Given the description of an element on the screen output the (x, y) to click on. 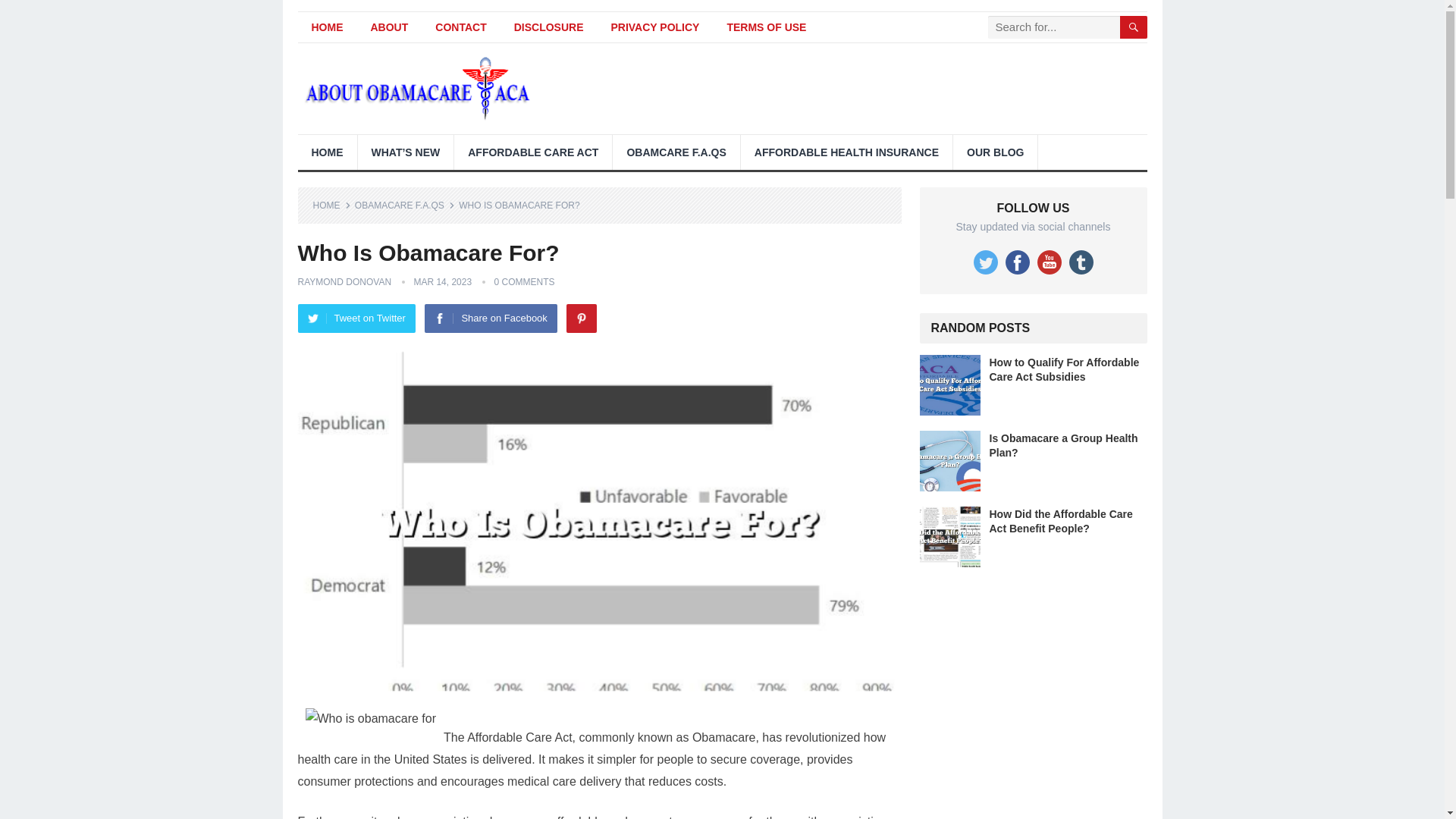
DISCLOSURE (548, 27)
Pinterest (581, 317)
View all posts in Obamacare F.A.Qs (404, 204)
OUR BLOG (994, 152)
OBAMCARE F.A.QS (675, 152)
TERMS OF USE (766, 27)
HOME (326, 27)
ABOUT (389, 27)
0 COMMENTS (523, 281)
Tweet on Twitter (355, 317)
